Given the description of an element on the screen output the (x, y) to click on. 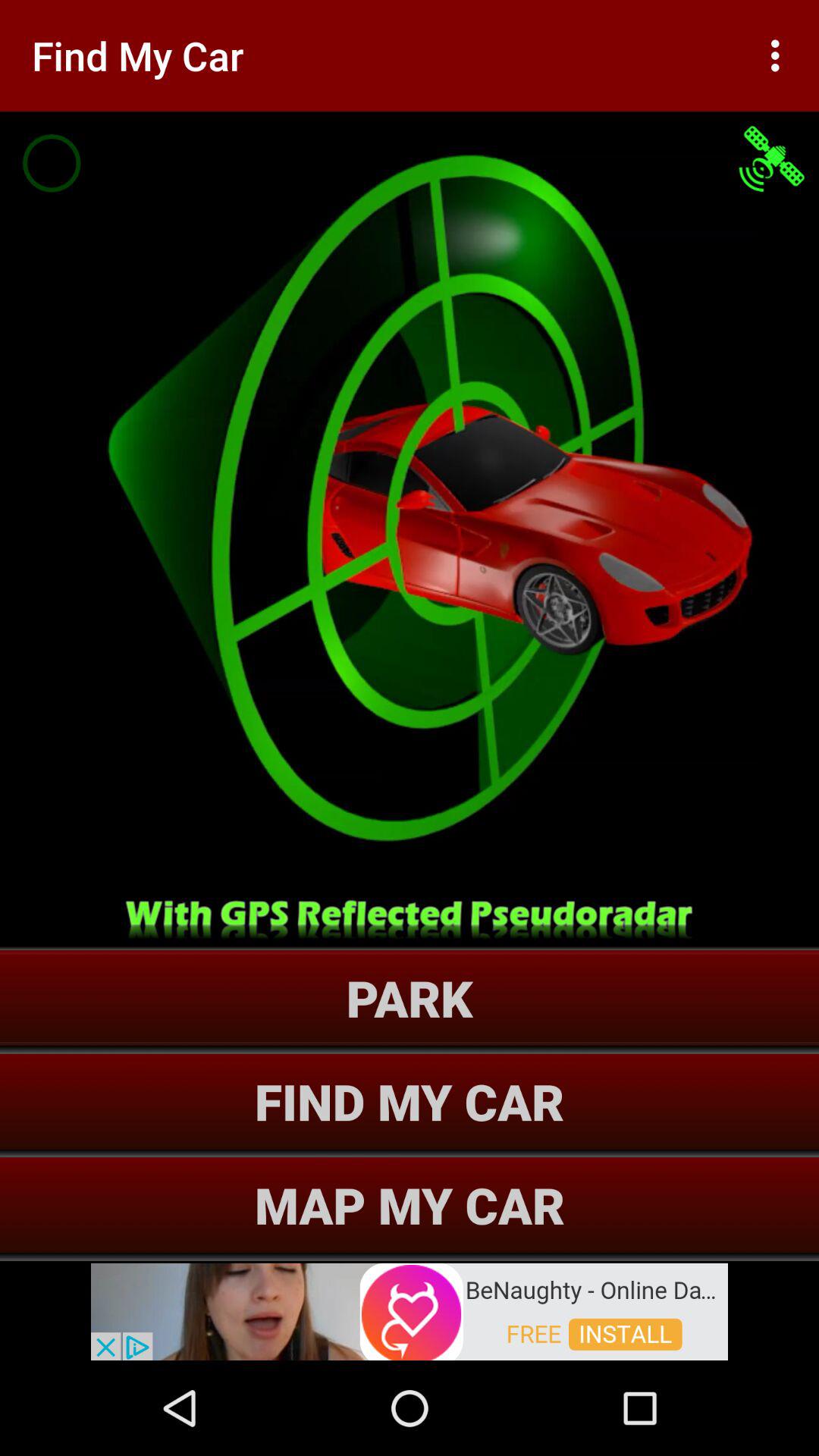
showing the advertisement (409, 1310)
